Given the description of an element on the screen output the (x, y) to click on. 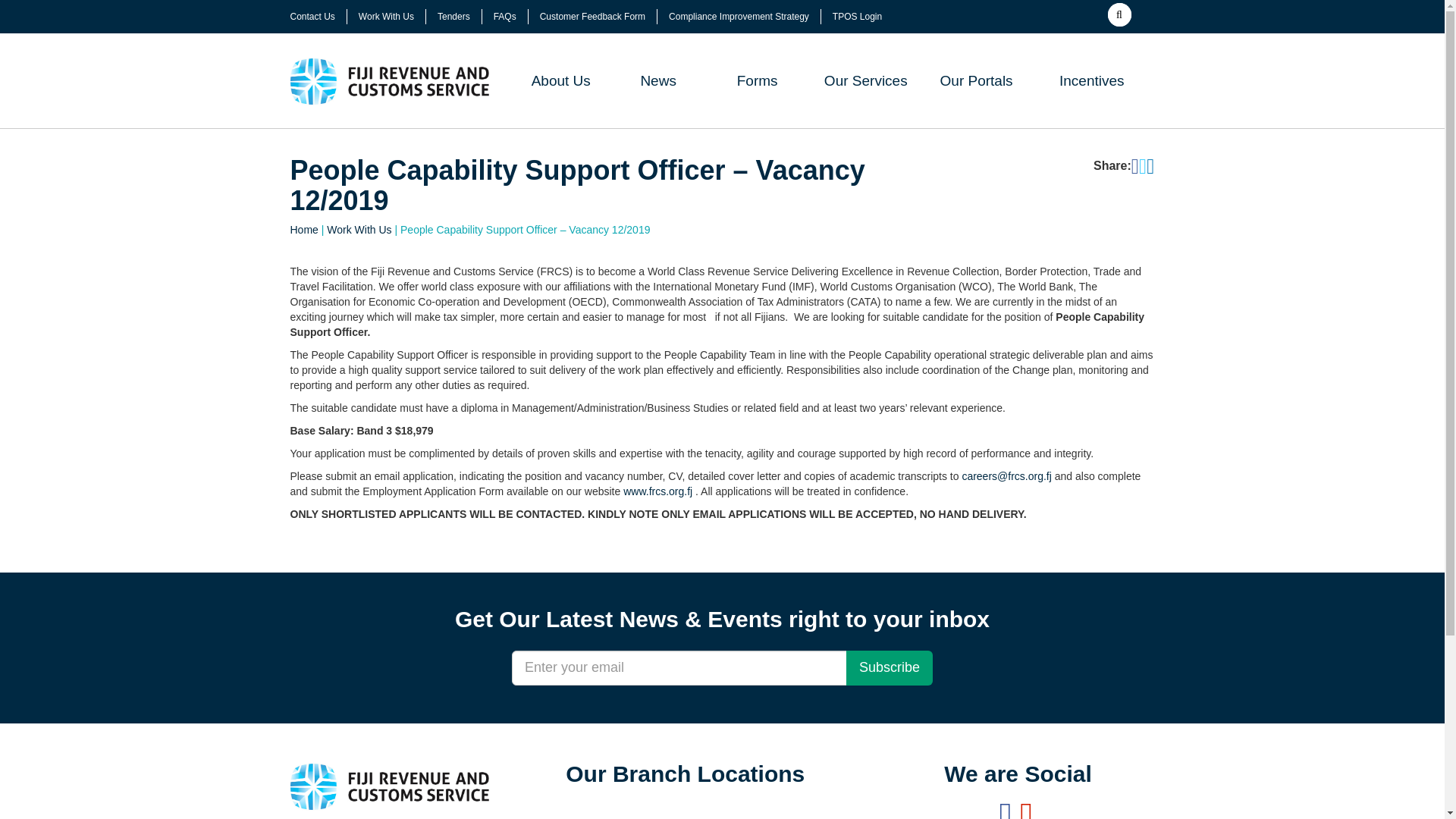
FAQs (504, 16)
Work With Us (385, 16)
Contact Us (311, 16)
Tenders (454, 16)
